Given the description of an element on the screen output the (x, y) to click on. 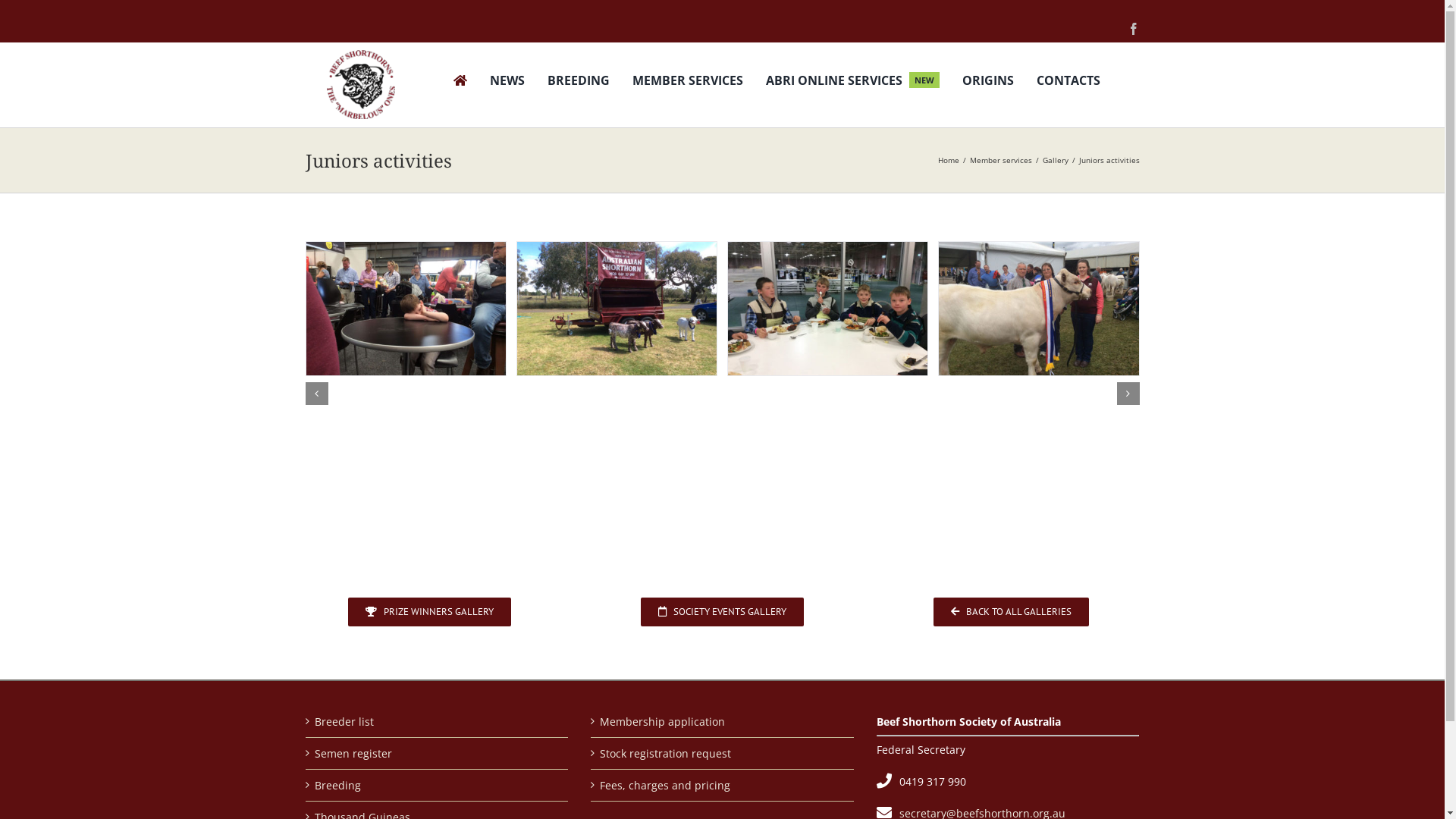
ABRI ONLINE SERVICES
NEW Element type: text (852, 82)
NEWS Element type: text (507, 82)
CONTACTS Element type: text (1068, 82)
SOCIETY EVENTS GALLERY Element type: text (721, 611)
BREEDING Element type: text (578, 82)
Gallery Element type: text (1054, 159)
Breeder list Element type: text (436, 721)
MEMBER SERVICES Element type: text (687, 82)
BACK TO ALL GALLERIES Element type: text (1010, 611)
Fees, charges and pricing Element type: text (722, 785)
Stock registration request Element type: text (722, 753)
ORIGINS Element type: text (987, 82)
Membership application Element type: text (722, 721)
Home Element type: text (947, 159)
Semen register Element type: text (436, 753)
Breeding Element type: text (436, 785)
Member services Element type: text (1000, 159)
PRIZE WINNERS GALLERY Element type: text (429, 611)
